Given the description of an element on the screen output the (x, y) to click on. 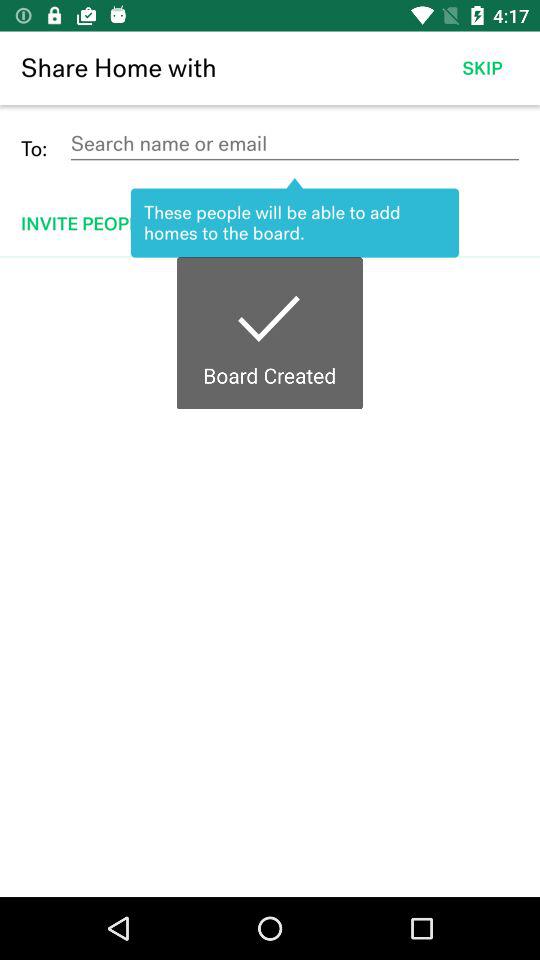
type contact name or email (294, 144)
